Given the description of an element on the screen output the (x, y) to click on. 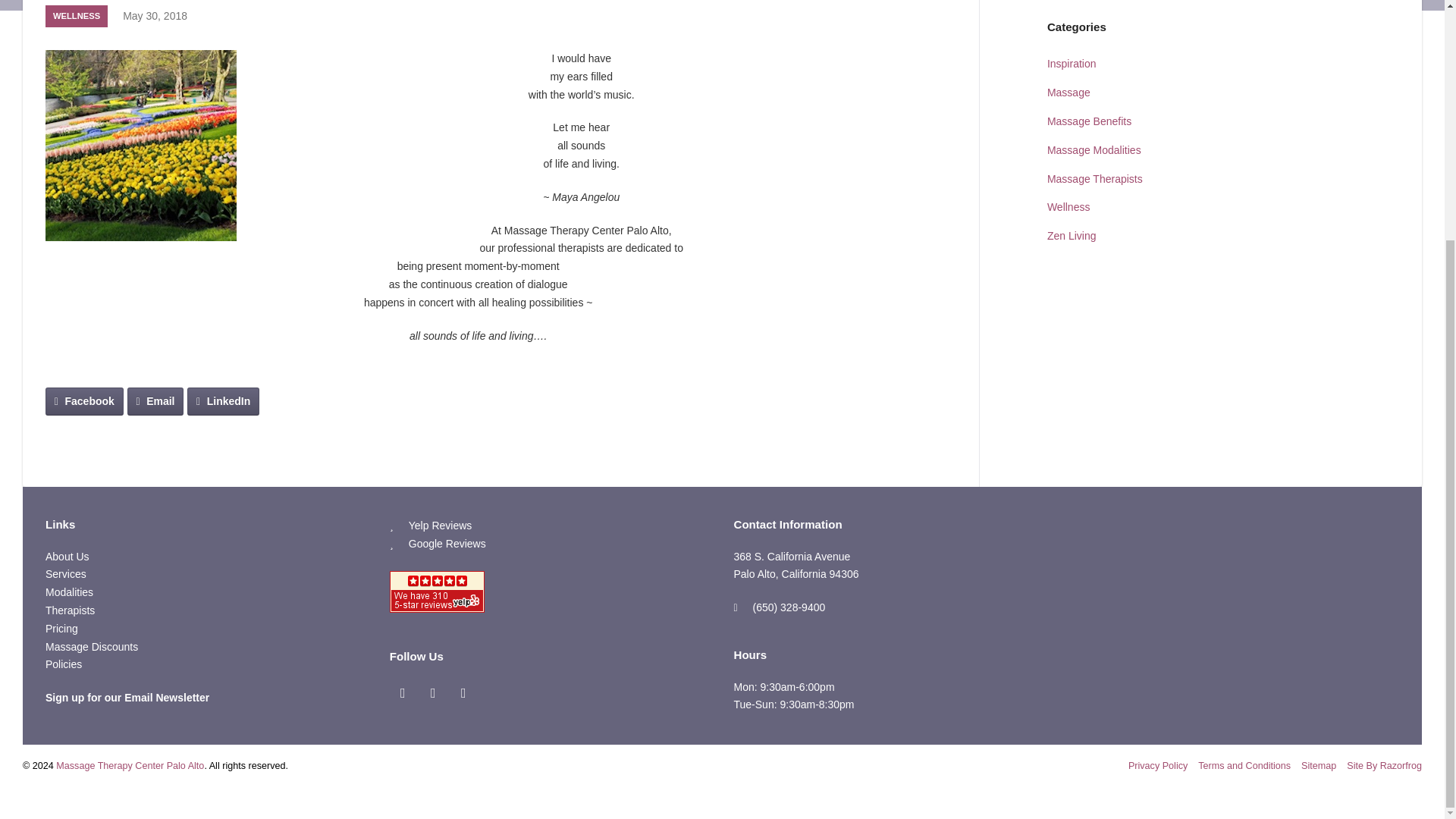
Google Reviews (447, 543)
Instagram (433, 693)
About (66, 556)
Yelp Reviews (440, 525)
Tiktok (463, 693)
Facebook (403, 693)
